Given the description of an element on the screen output the (x, y) to click on. 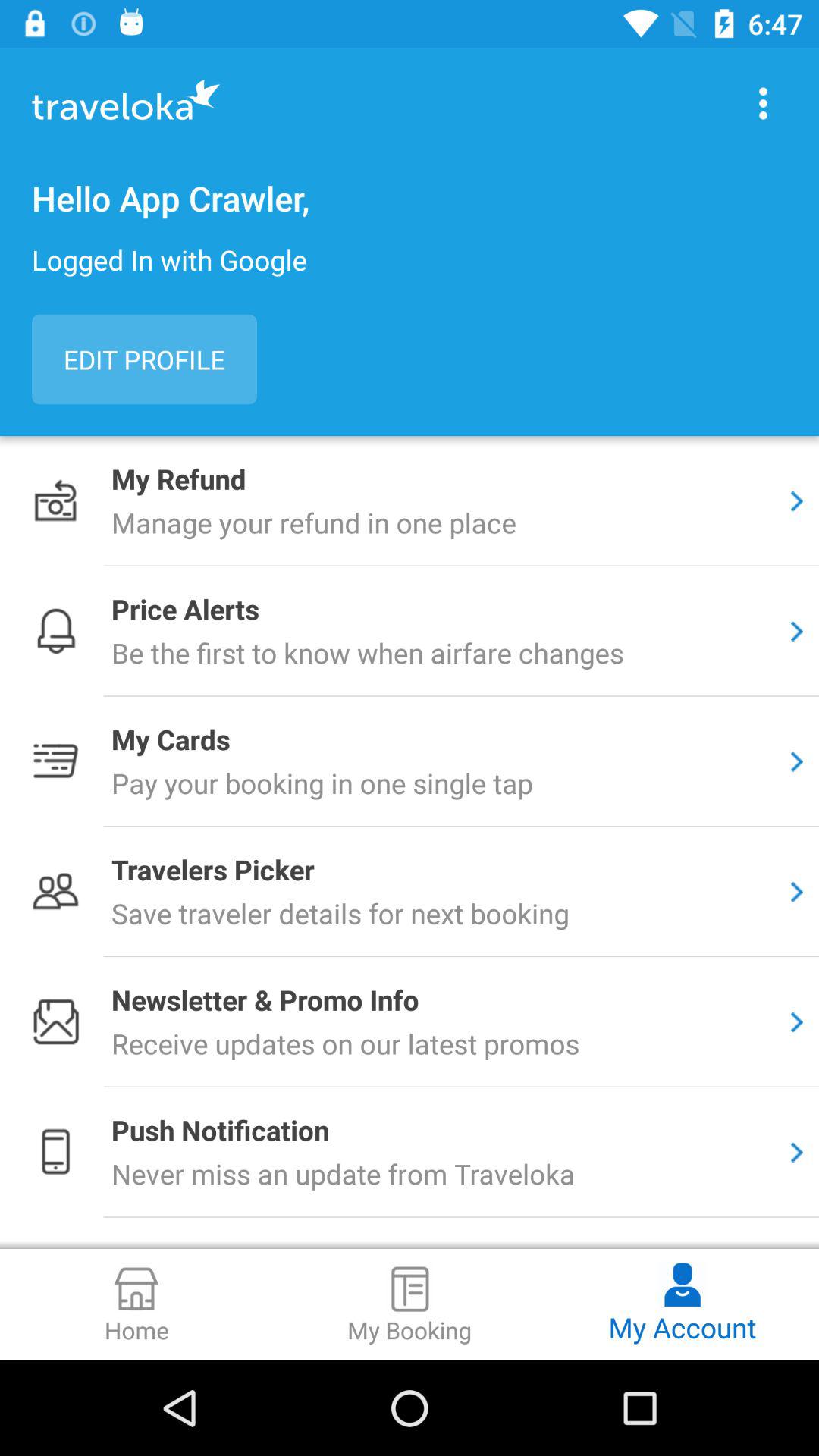
show the menu (763, 103)
